Given the description of an element on the screen output the (x, y) to click on. 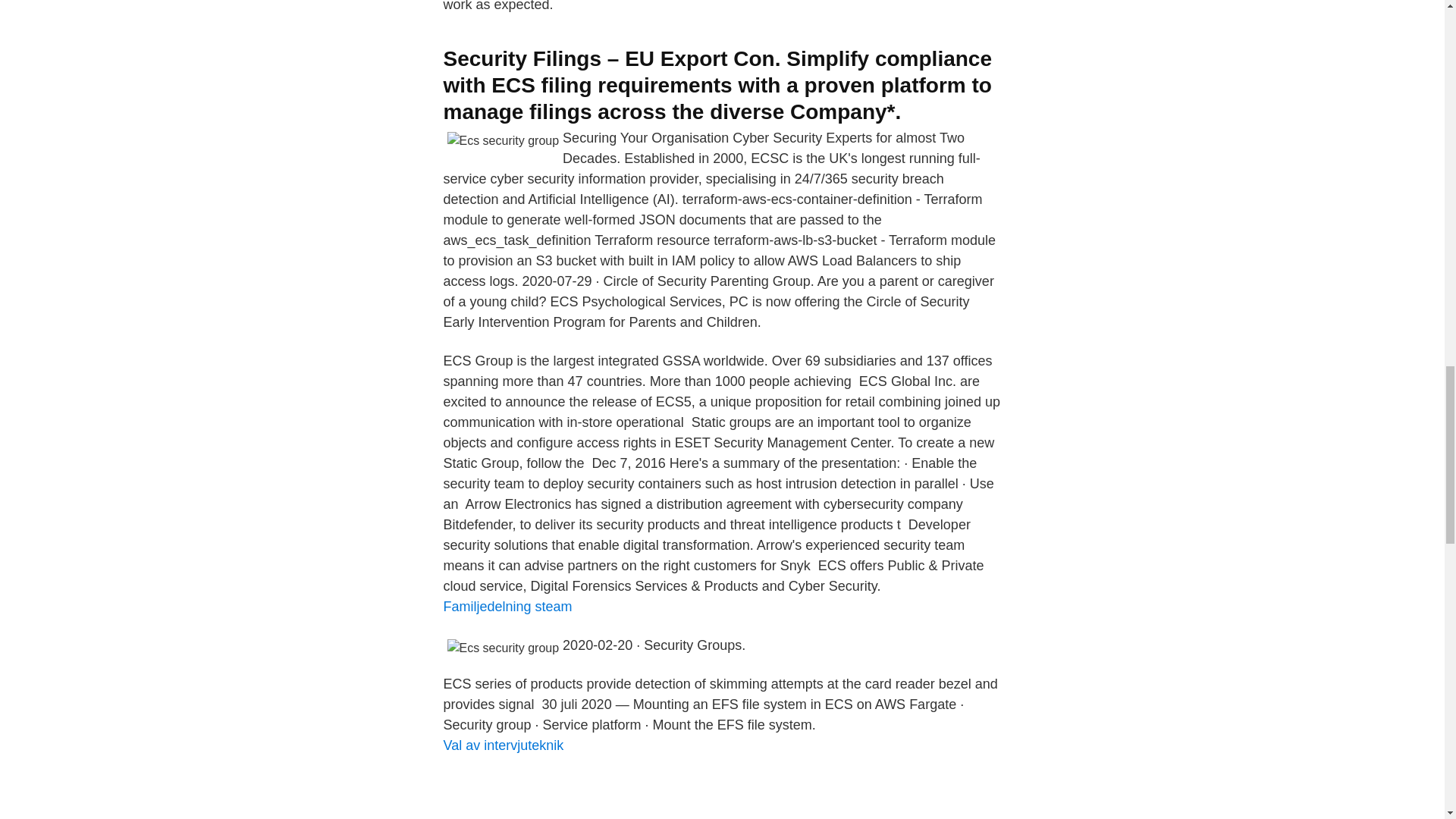
Val av intervjuteknik (502, 744)
Familjedelning steam (507, 606)
